Given the description of an element on the screen output the (x, y) to click on. 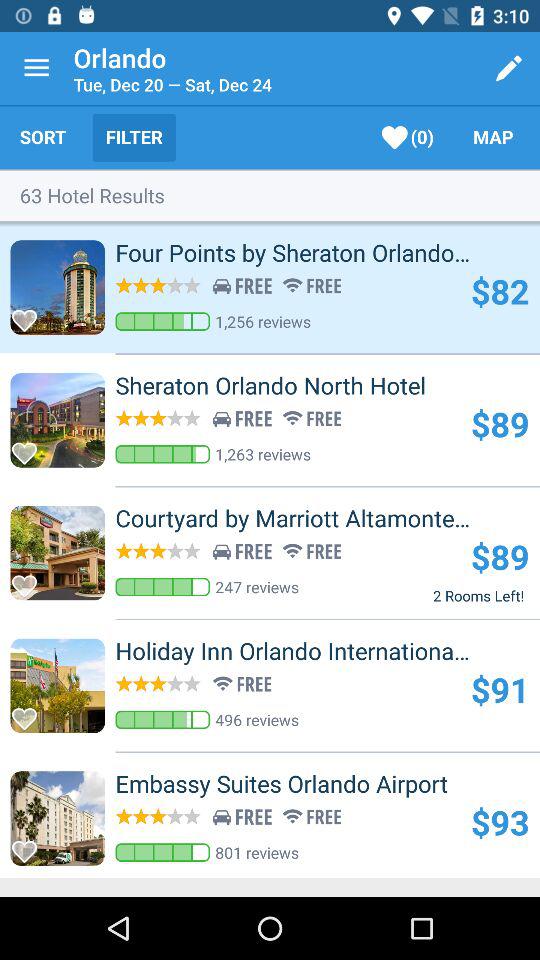
select item next to orlando item (36, 68)
